Given the description of an element on the screen output the (x, y) to click on. 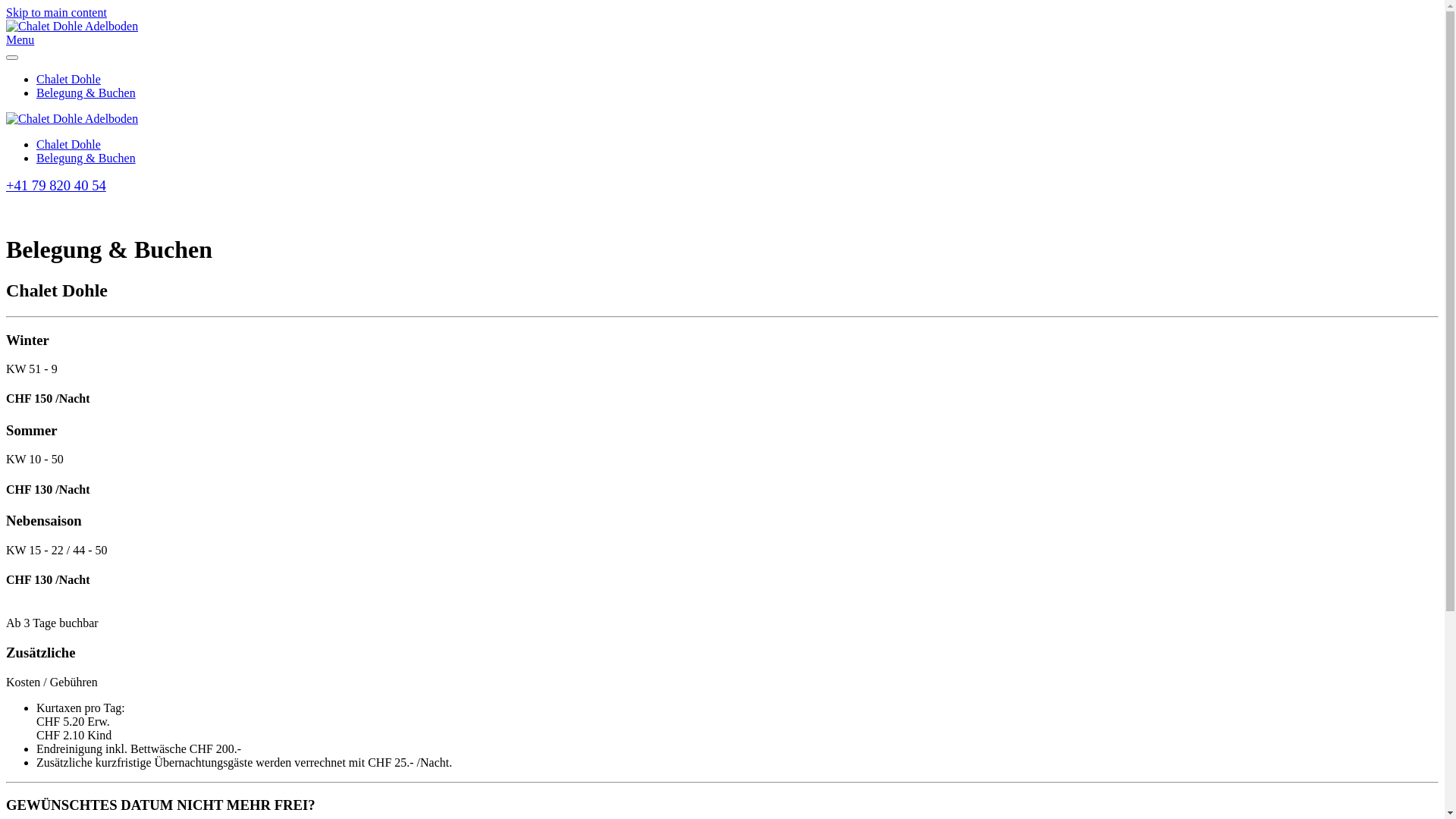
Belegung & Buchen Element type: text (85, 92)
Belegung & Buchen Element type: text (85, 157)
+41 79 820 40 54 Element type: text (56, 185)
Menu Element type: text (722, 40)
Skip to main content Element type: text (56, 12)
Chalet Dohle Element type: text (68, 144)
Chalet Dohle Element type: text (68, 78)
